Given the description of an element on the screen output the (x, y) to click on. 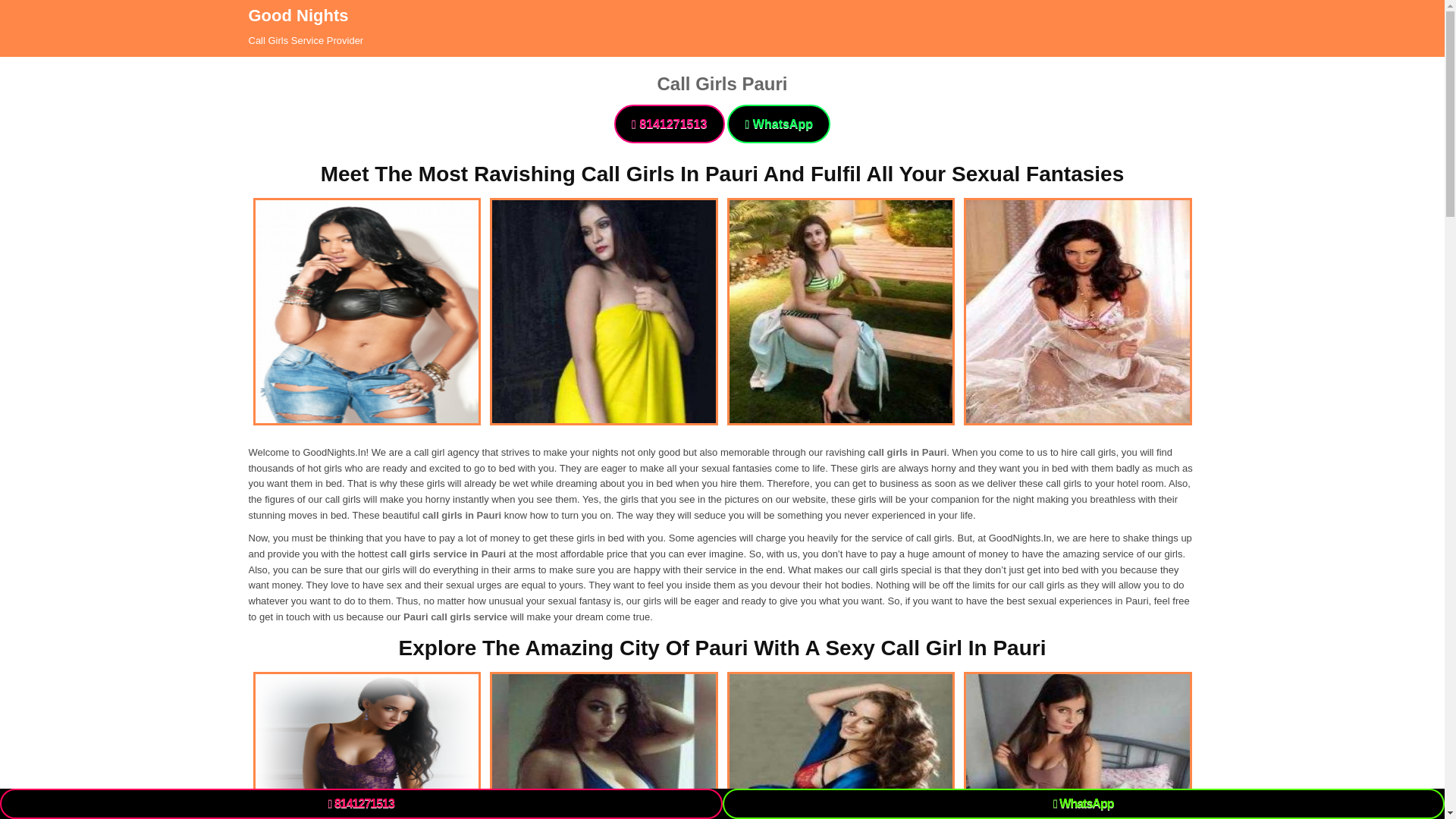
Pauri call girls service (454, 616)
call girls in Pauri (906, 451)
8141271513 (669, 123)
call girls in Pauri (461, 514)
Call Girls Pauri (721, 83)
call girls service in Pauri (447, 553)
8141271513 (361, 803)
WhatsApp (777, 123)
Good Nights (298, 15)
